Given the description of an element on the screen output the (x, y) to click on. 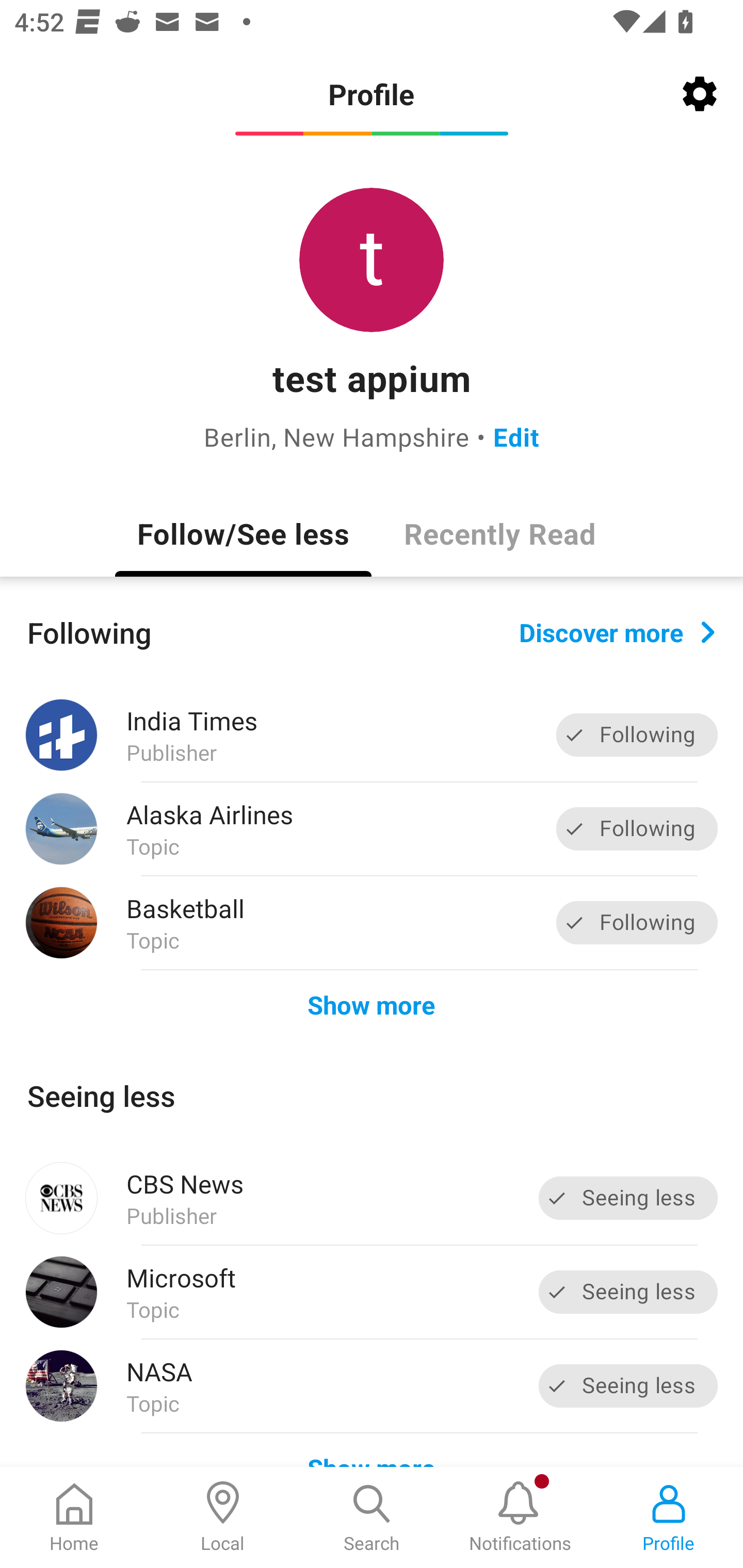
Settings (699, 93)
Edit (516, 436)
Recently Read (499, 533)
Discover more (617, 631)
India Times Publisher Following (371, 735)
Following (636, 735)
Alaska Airlines Topic Following (371, 829)
Following (636, 828)
Basketball Topic Following (371, 922)
Following (636, 922)
Show more (371, 1004)
CBS News Publisher Seeing less (371, 1197)
Seeing less (627, 1197)
Microsoft Topic Seeing less (371, 1291)
Seeing less (627, 1291)
NASA Topic Seeing less (371, 1386)
Seeing less (627, 1386)
Home (74, 1517)
Local (222, 1517)
Search (371, 1517)
Notifications, New notification Notifications (519, 1517)
